Given the description of an element on the screen output the (x, y) to click on. 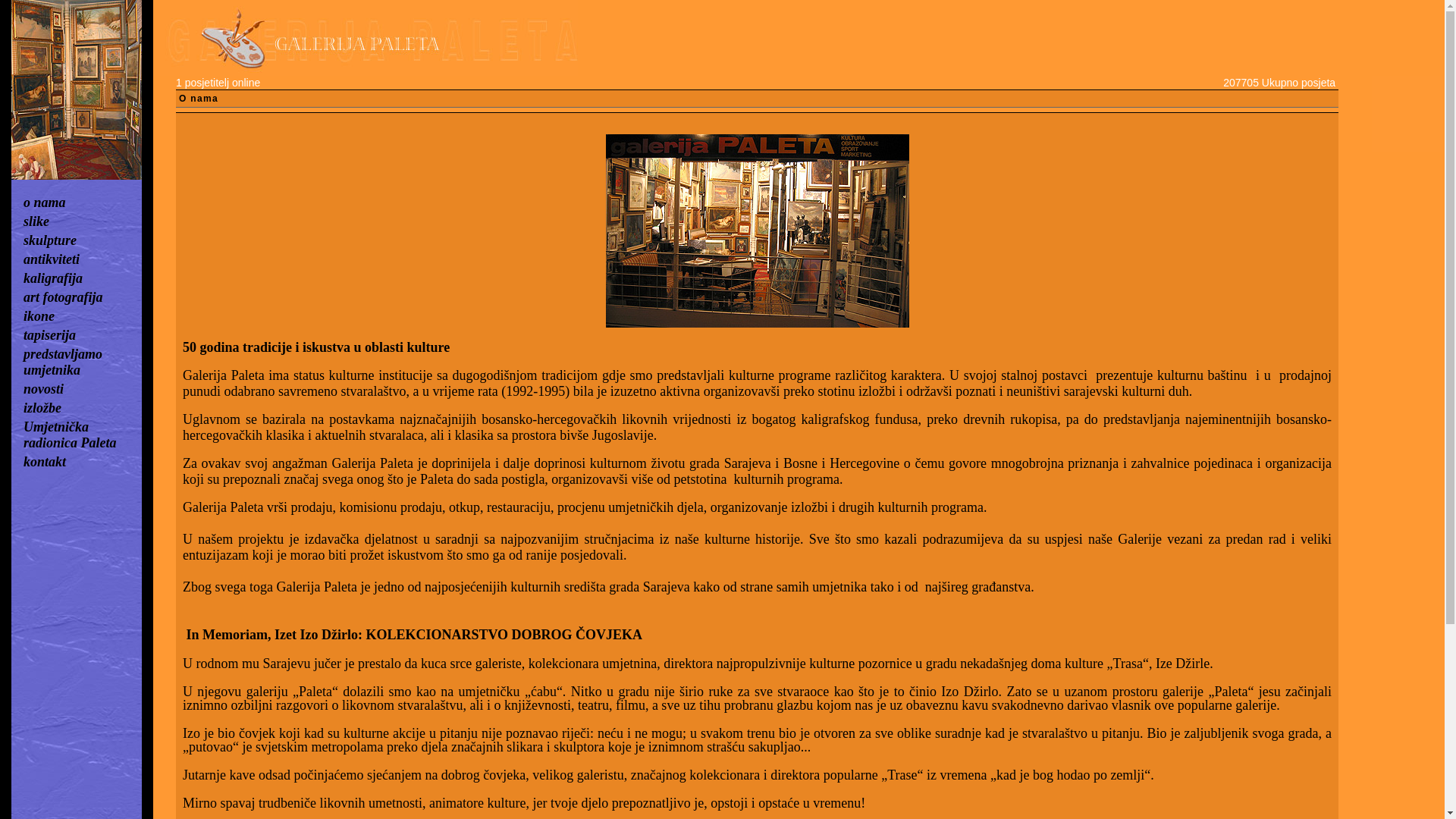
ikone Element type: text (38, 315)
o nama Element type: text (44, 202)
kaligrafija Element type: text (52, 277)
predstavljamo umjetnika Element type: text (62, 361)
slike Element type: text (36, 221)
novosti Element type: text (43, 388)
skulpture Element type: text (49, 239)
art fotografija Element type: text (63, 296)
tapiserija Element type: text (49, 334)
antikviteti Element type: text (51, 258)
kontakt Element type: text (44, 461)
